Given the description of an element on the screen output the (x, y) to click on. 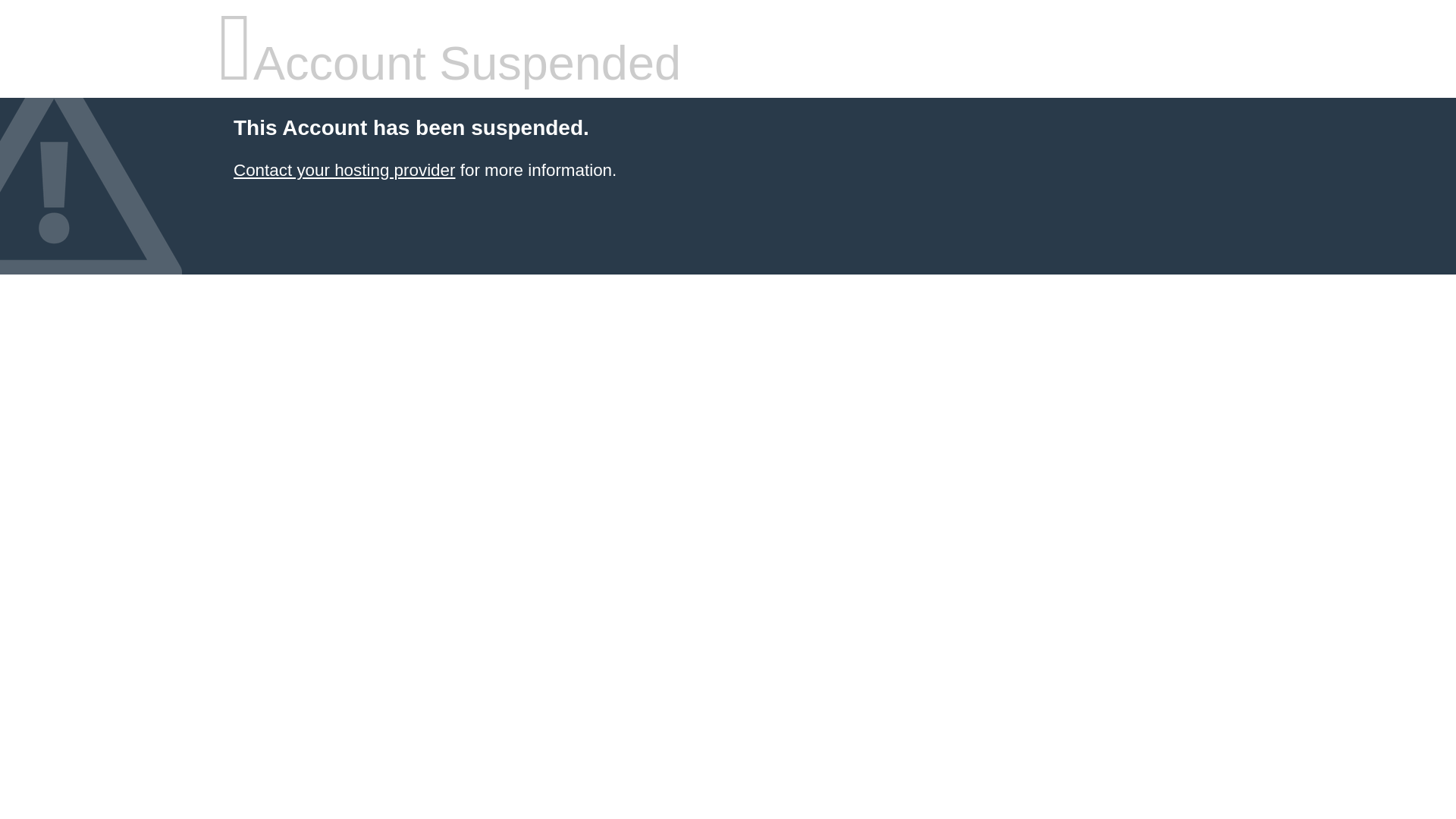
Contact your hosting provider (343, 169)
PlanetHoster (343, 169)
